Given the description of an element on the screen output the (x, y) to click on. 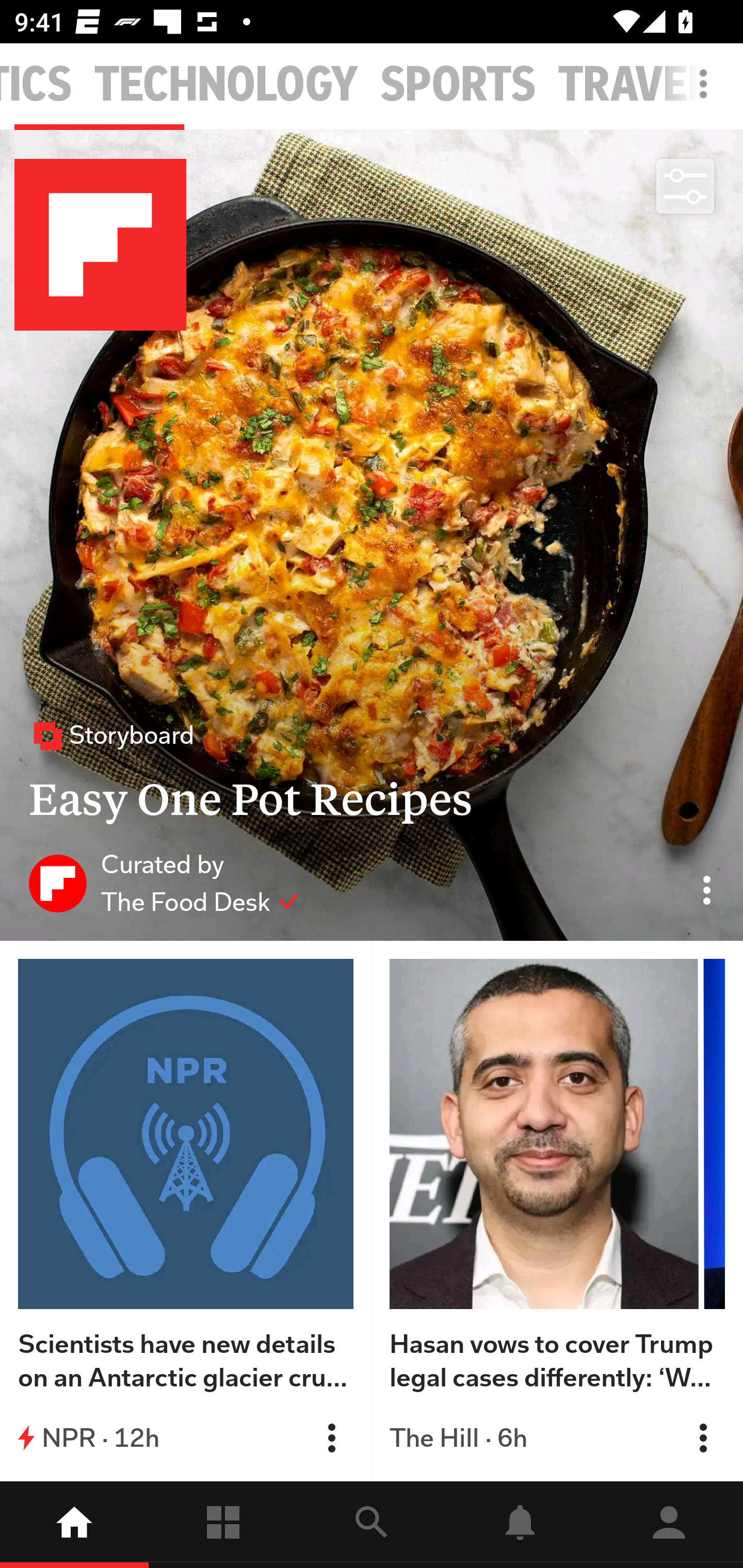
TECHNOLOGY (226, 84)
SPORTS (458, 84)
TRAVEL (633, 84)
More options (706, 93)
Curated by The Food Desk (163, 882)
NPR · 12h Flip into Magazine (185, 1437)
The Hill · 6h Flip into Magazine (557, 1437)
Flip into Magazine (331, 1437)
Flip into Magazine (703, 1437)
home (74, 1524)
Following (222, 1524)
explore (371, 1524)
Notifications (519, 1524)
Profile (668, 1524)
